Given the description of an element on the screen output the (x, y) to click on. 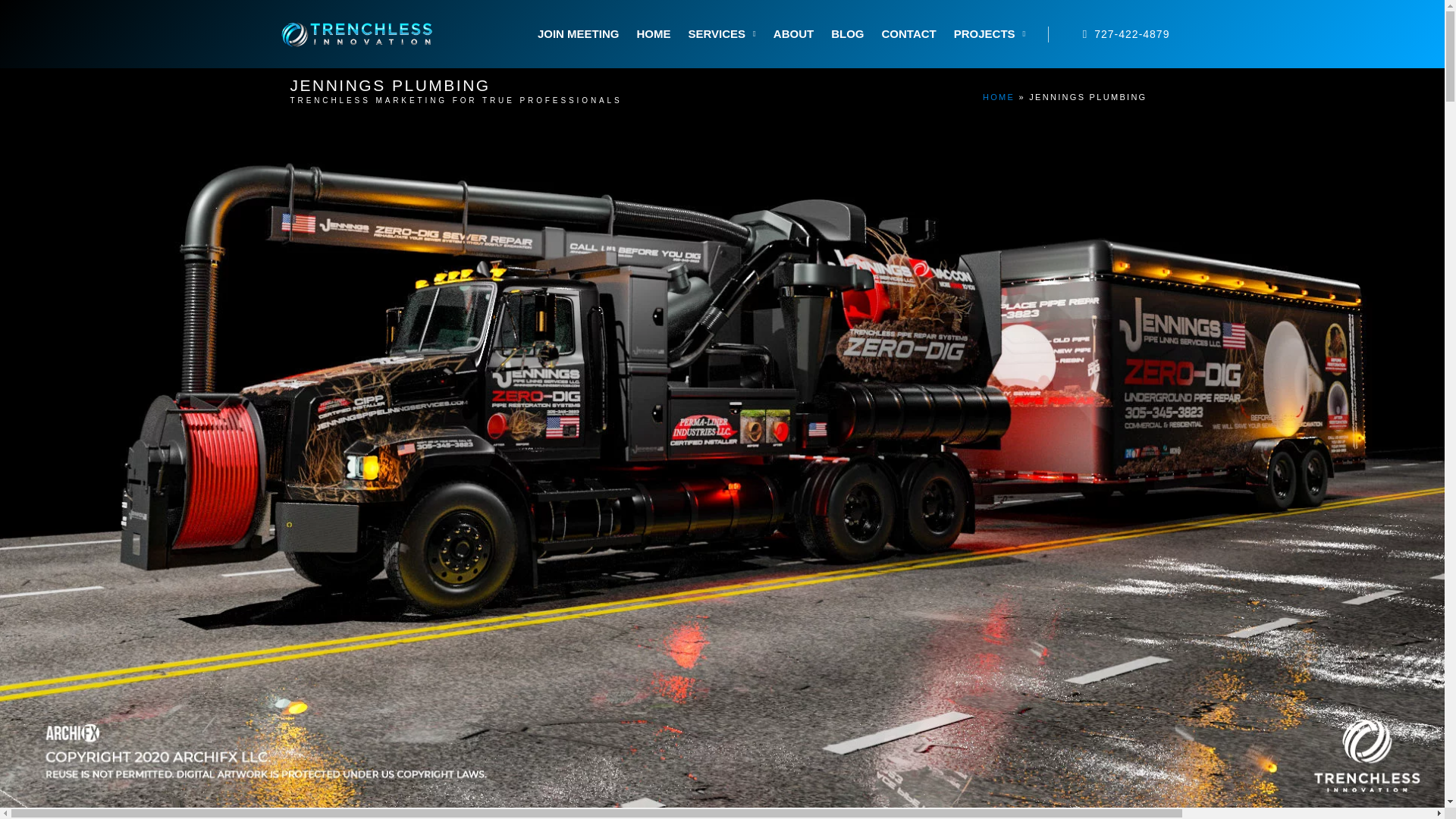
SERVICES (721, 33)
PROJECTS (989, 33)
HOME (998, 96)
JOIN MEETING (578, 33)
